Given the description of an element on the screen output the (x, y) to click on. 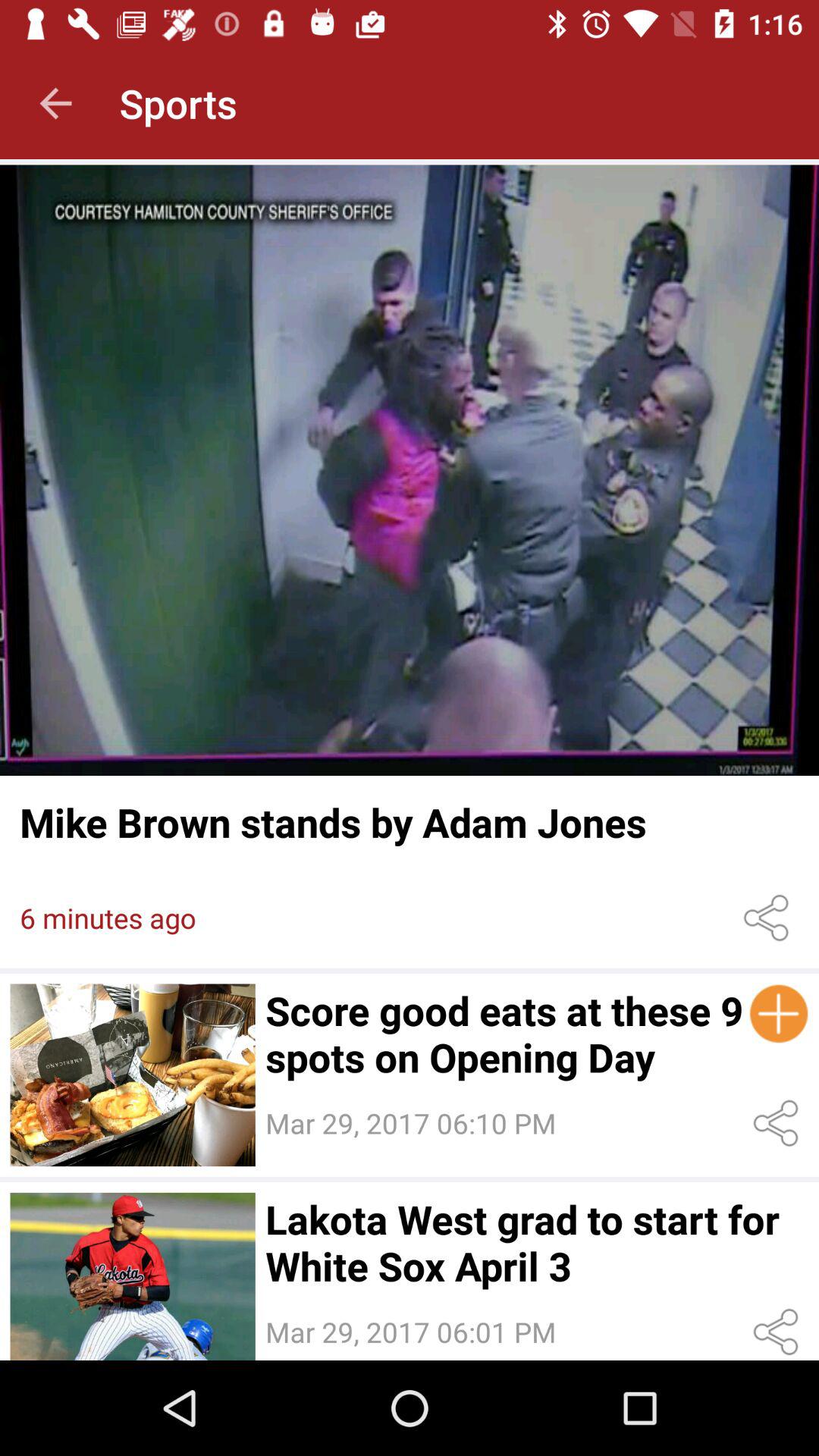
opens this story (132, 1276)
